Given the description of an element on the screen output the (x, y) to click on. 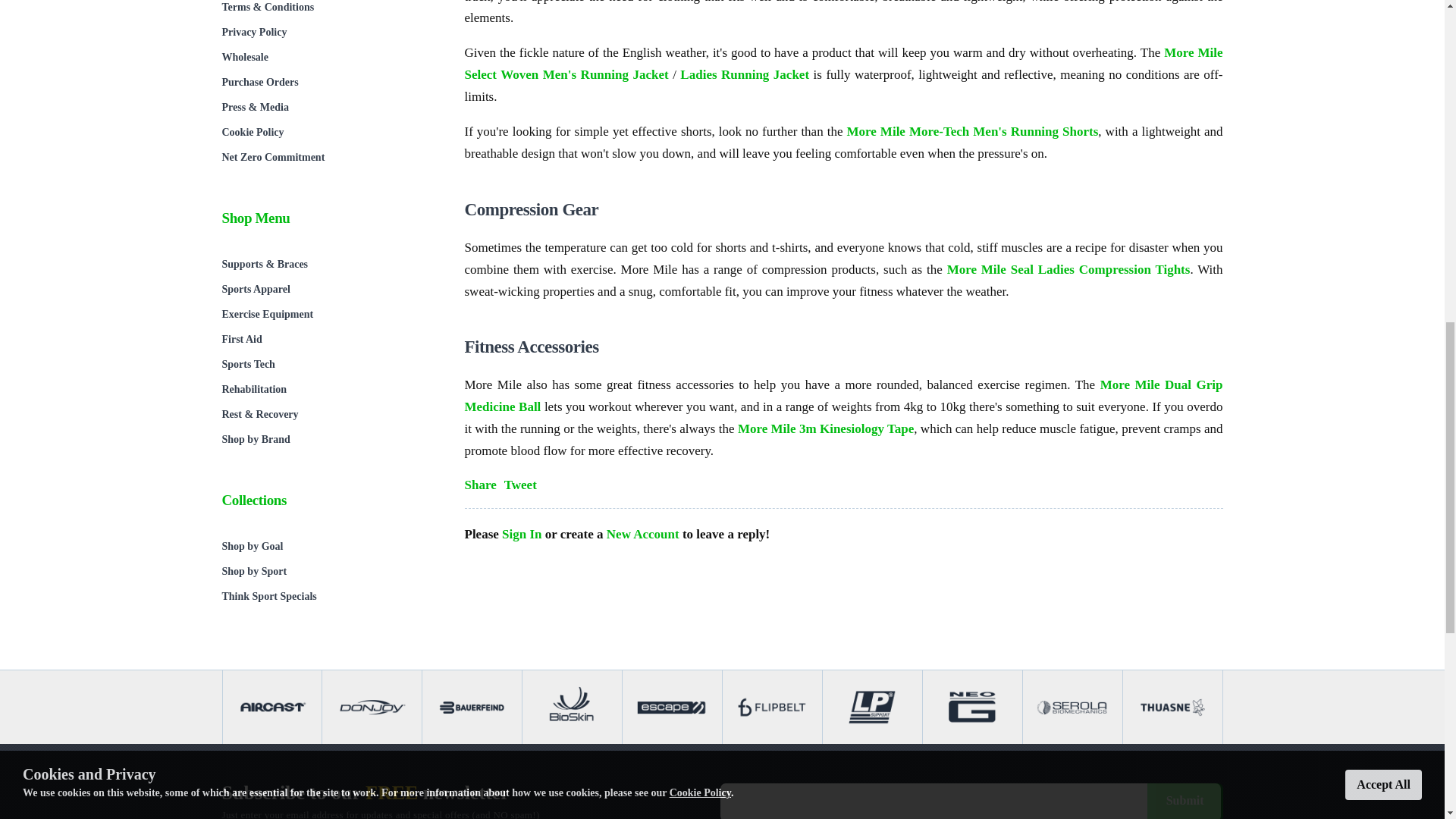
Neo G (972, 706)
Serola (1072, 706)
Shop by Sport (327, 571)
Sports Tech (327, 364)
Sports Apparel (327, 289)
Think Sport Specials (327, 596)
Cookie Policy (327, 132)
Exercise Equipment (327, 314)
LP Supports (871, 706)
More Mile Select Woven Men's Running Jacket (843, 63)
Purchase Orders (327, 82)
First Aid (327, 339)
Privacy Policy (327, 32)
Shop by Goal (327, 546)
BioSkin (571, 706)
